Given the description of an element on the screen output the (x, y) to click on. 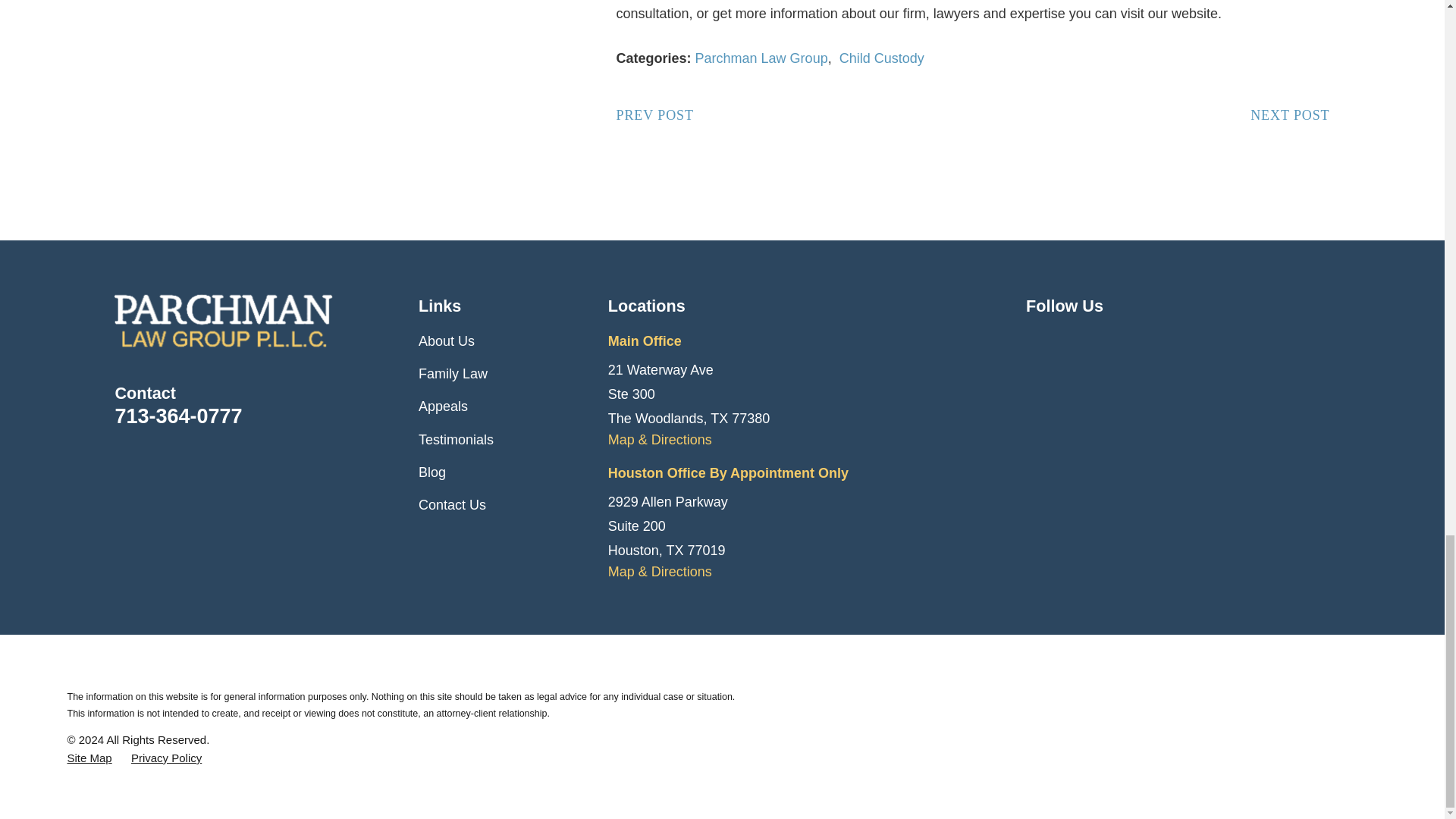
LinkedIn (1114, 341)
Twitter (1074, 341)
Parchman Law Group P.L.L.C. (224, 321)
Facebook (1035, 341)
Home (267, 321)
